Given the description of an element on the screen output the (x, y) to click on. 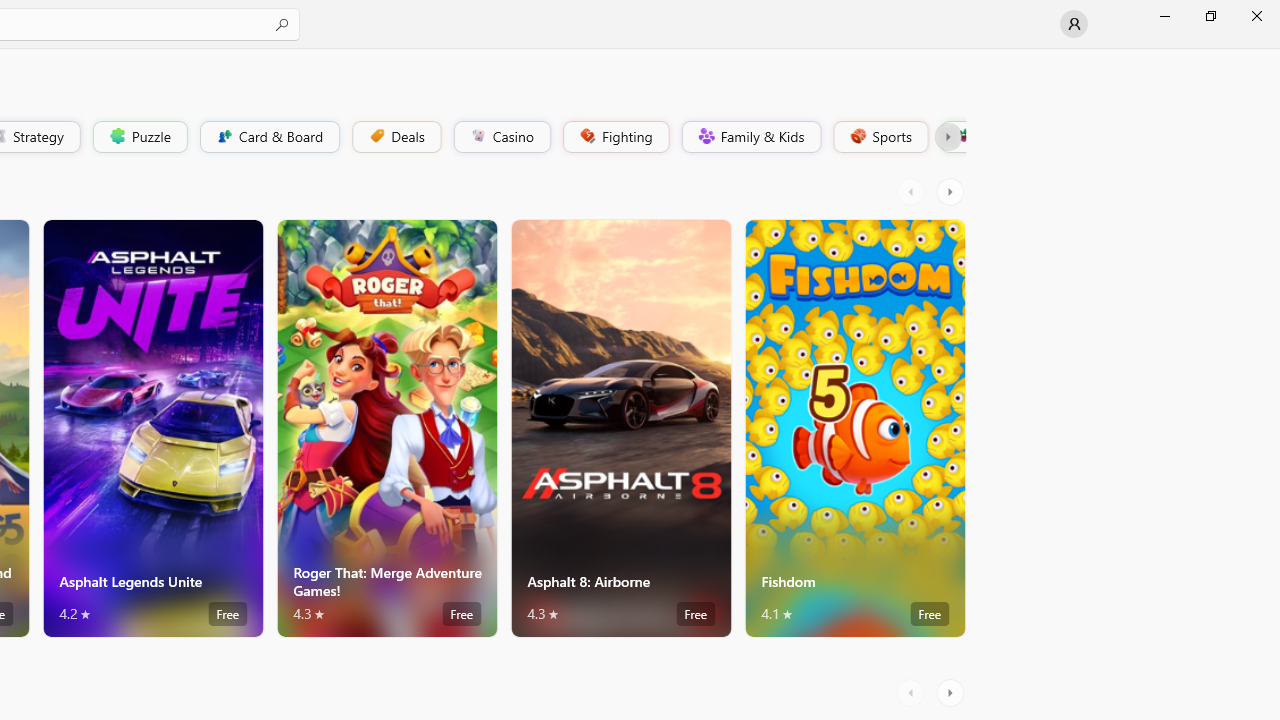
Card & Board (268, 136)
Puzzle (139, 136)
AutomationID: RightScrollButton (952, 692)
AutomationID: LeftScrollButton (913, 692)
Class: Button (947, 136)
Platformer (952, 136)
User profile (1073, 24)
Fighting (614, 136)
Close Microsoft Store (1256, 15)
Fishdom. Average rating of 4.1 out of five stars. Free   (854, 427)
Casino (501, 136)
Restore Microsoft Store (1210, 15)
Deals (395, 136)
Sports (879, 136)
